Given the description of an element on the screen output the (x, y) to click on. 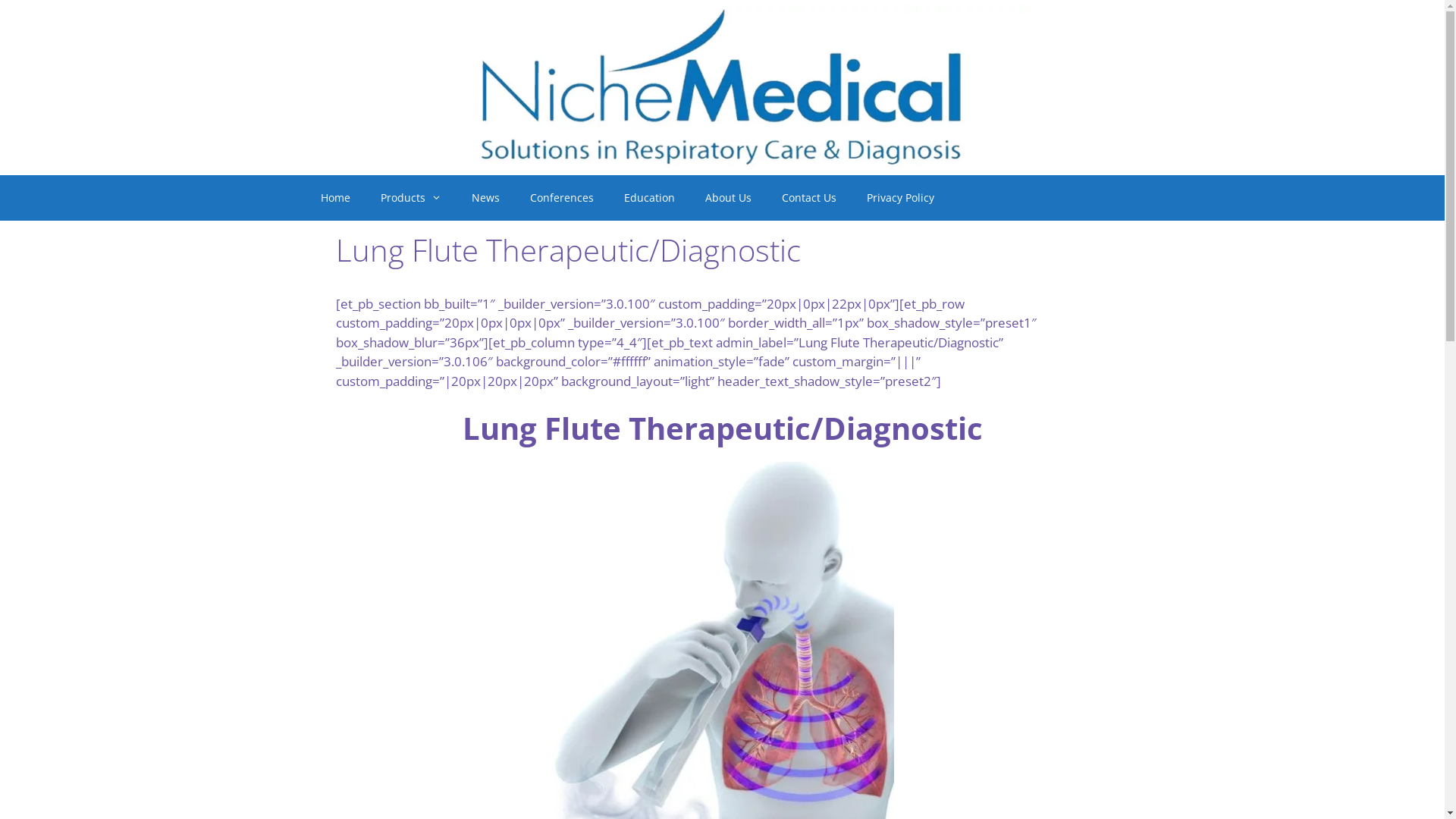
Conferences Element type: text (561, 197)
Products Element type: text (410, 197)
About Us Element type: text (728, 197)
Home Element type: text (334, 197)
Privacy Policy Element type: text (900, 197)
Education Element type: text (649, 197)
News Element type: text (485, 197)
Contact Us Element type: text (808, 197)
